Given the description of an element on the screen output the (x, y) to click on. 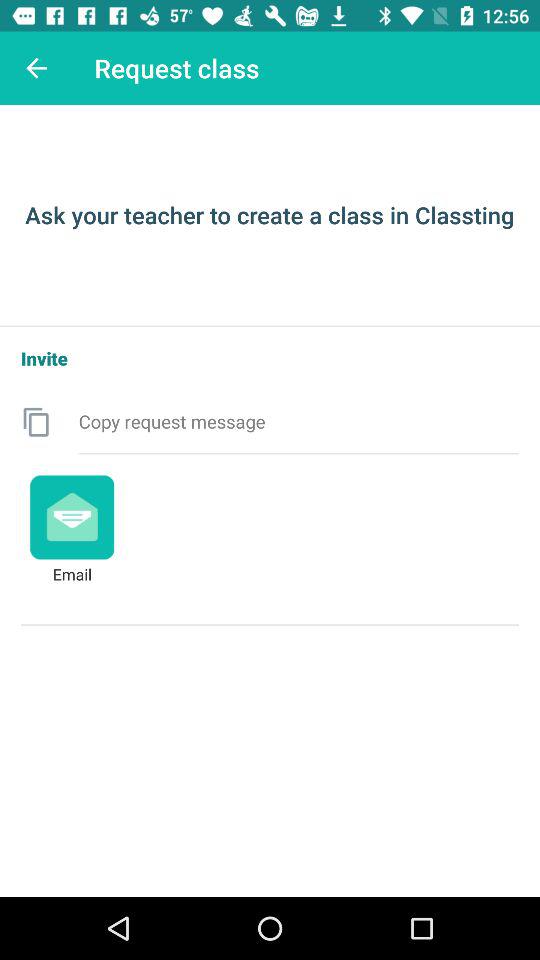
open the item above ask your teacher (36, 68)
